Given the description of an element on the screen output the (x, y) to click on. 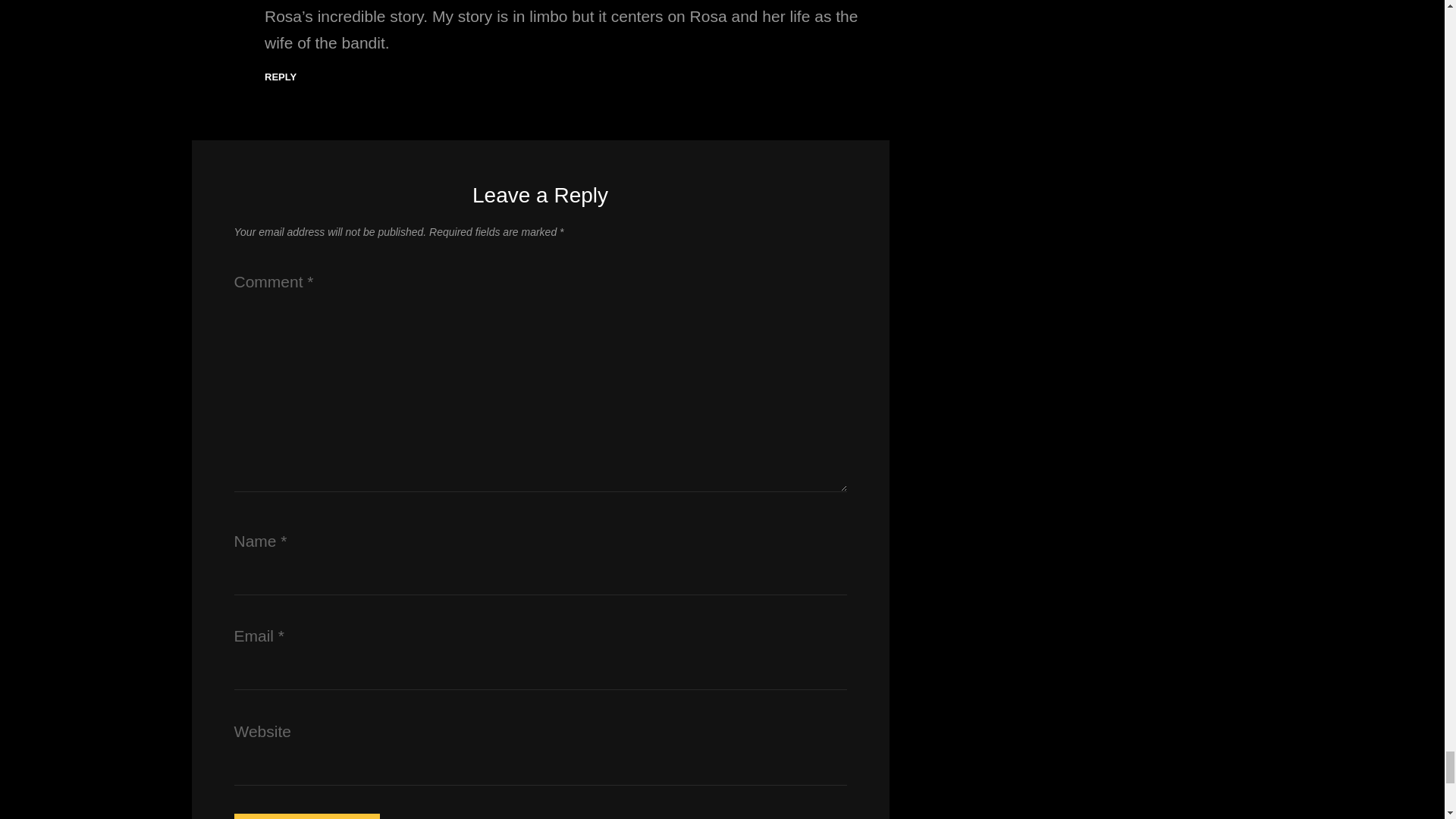
Post Comment (305, 816)
